Given the description of an element on the screen output the (x, y) to click on. 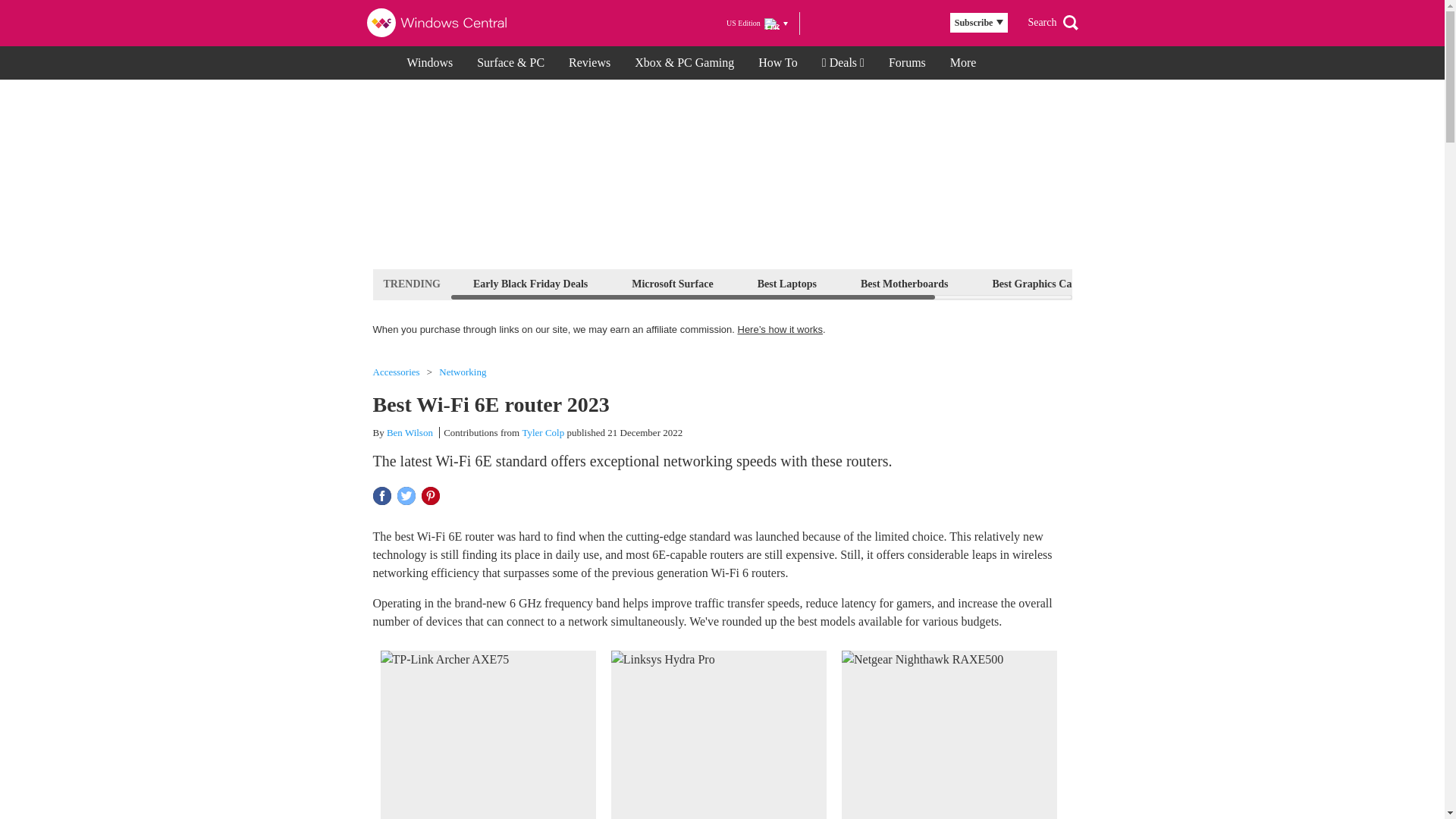
Best Motherboards (904, 283)
Forums (906, 62)
Windows (429, 62)
Early Black Friday Deals (529, 283)
Microsoft Surface (671, 283)
Tyler Colp (542, 432)
RSS (919, 22)
Ben Wilson (409, 432)
Best College Laptops (1178, 283)
Best Laptops (787, 283)
